Given the description of an element on the screen output the (x, y) to click on. 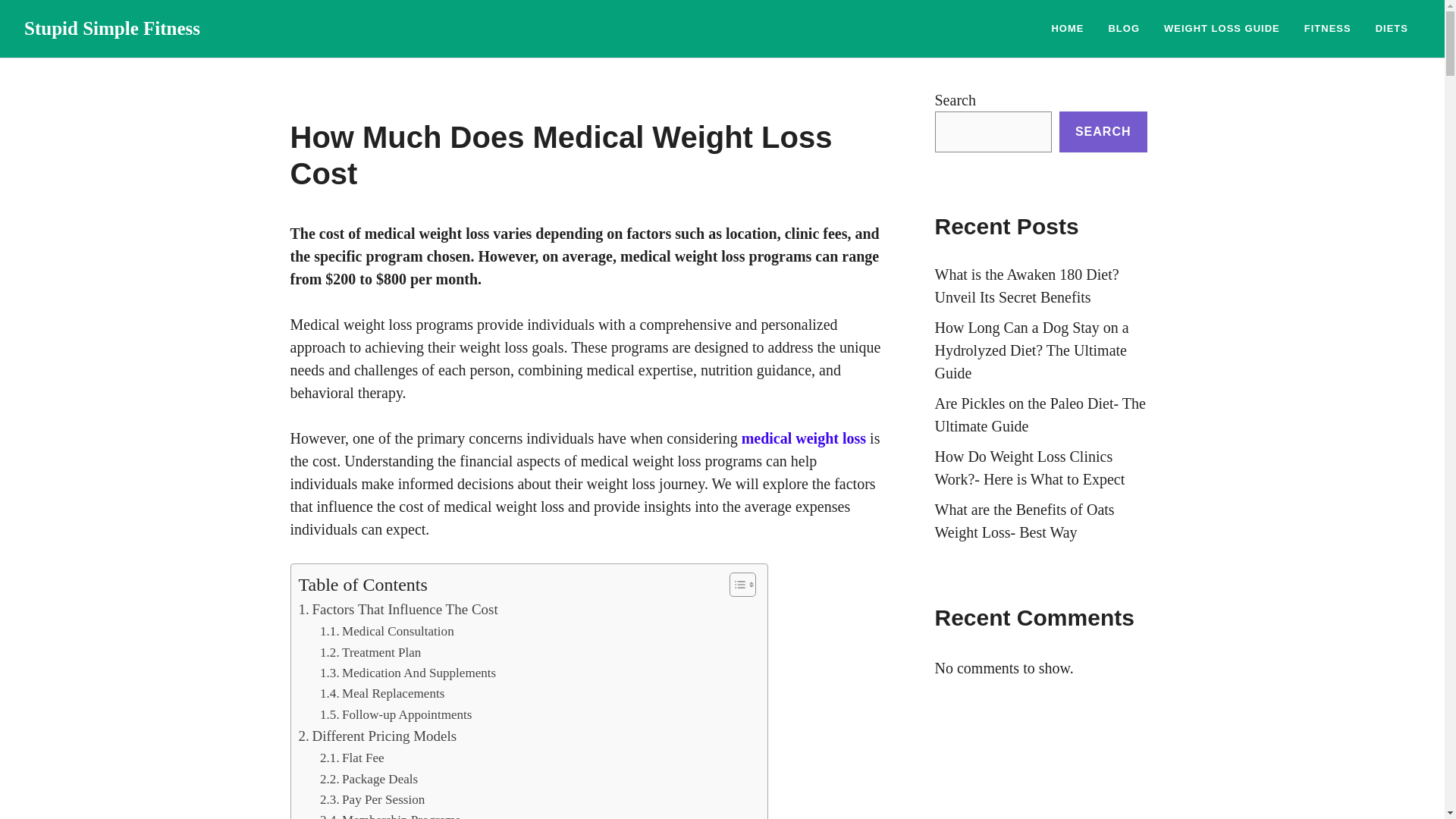
Pay Per Session (372, 799)
Membership Programs (390, 814)
WEIGHT LOSS GUIDE (1221, 28)
Pay Per Session (372, 799)
Treatment Plan (370, 652)
Medication And Supplements (408, 672)
Package Deals (368, 779)
Follow-up Appointments (395, 714)
Flat Fee (352, 757)
medical weight loss (803, 437)
Meal Replacements (382, 693)
Treatment Plan (370, 652)
Meal Replacements (382, 693)
Factors That Influence The Cost (397, 609)
BLOG (1123, 28)
